Given the description of an element on the screen output the (x, y) to click on. 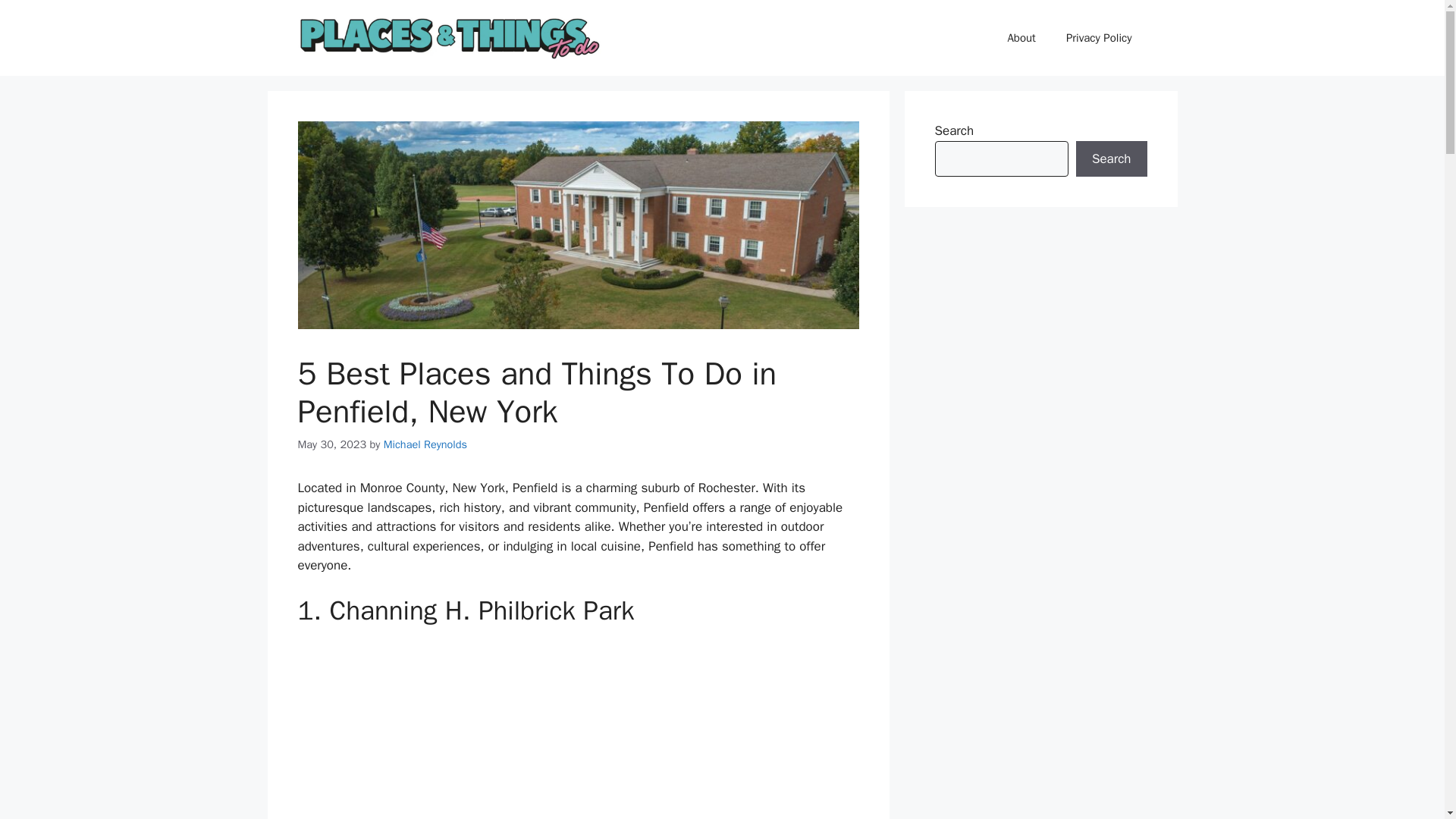
Search (1111, 158)
Privacy Policy (1099, 37)
Michael Reynolds (425, 444)
View all posts by Michael Reynolds (425, 444)
About (1020, 37)
